Given the description of an element on the screen output the (x, y) to click on. 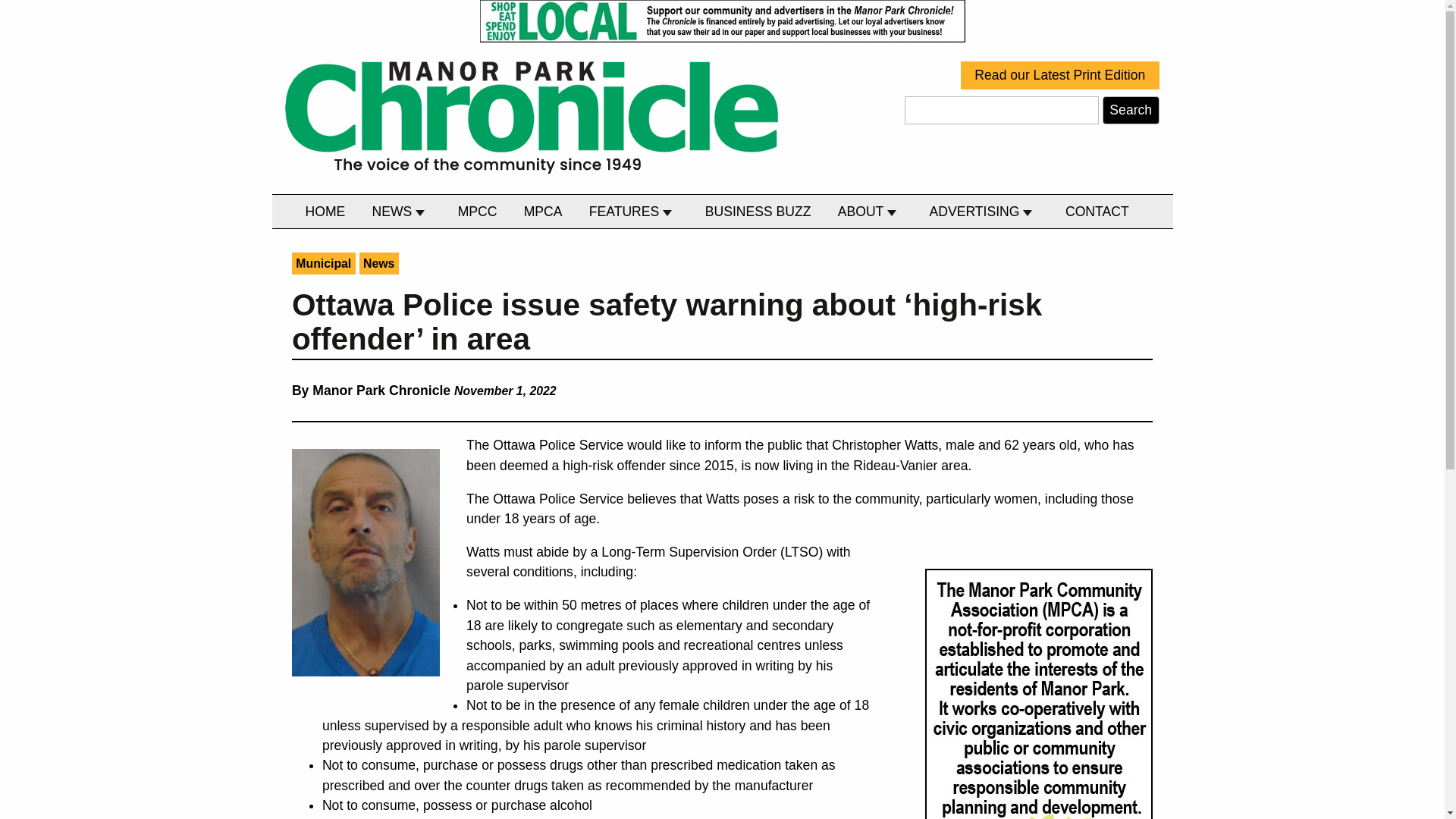
BUSINESS BUZZ (757, 211)
NEWS (401, 211)
MPCA (542, 211)
Read our Latest Print Edition (1059, 75)
Search (1130, 110)
Municipal (323, 263)
CONTACT (1096, 211)
FEATURES (633, 211)
News (378, 263)
ABOUT (869, 211)
HOME (325, 211)
MPCC (477, 211)
ADVERTISING (984, 211)
